Given the description of an element on the screen output the (x, y) to click on. 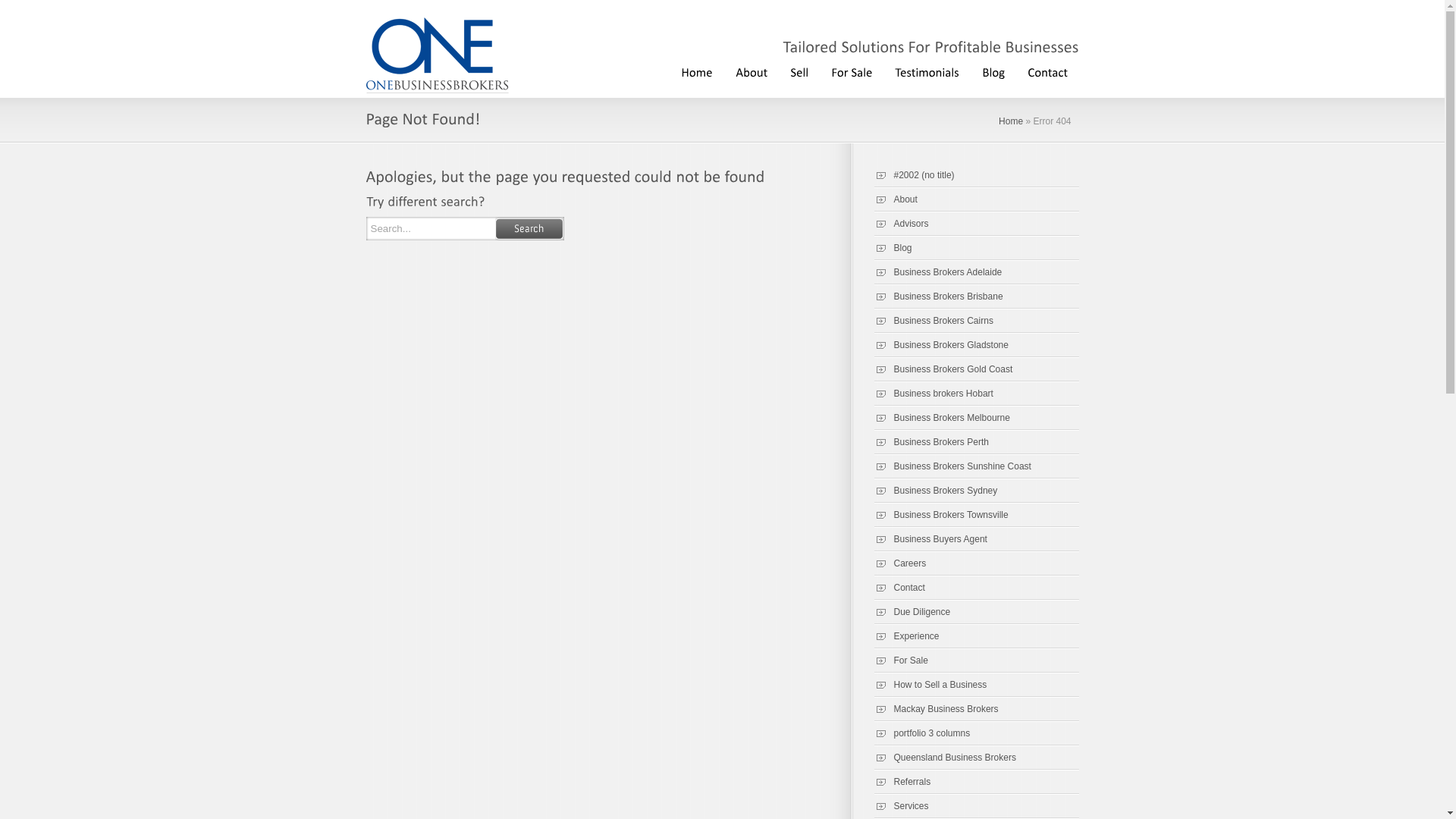
Business Brokers Brisbane Element type: text (937, 296)
About Element type: text (894, 199)
Blog Element type: text (993, 71)
Queensland Business Brokers Element type: text (944, 757)
Business Brokers Townsville Element type: text (940, 514)
Business Brokers Sunshine Coast Element type: text (951, 466)
For Sale Element type: text (900, 660)
Contact Element type: text (898, 587)
Mackay Business Brokers Element type: text (935, 708)
Business Brokers Sydney Element type: text (935, 490)
Testimonials Element type: text (925, 71)
#2002 (no title) Element type: text (913, 174)
About Element type: text (750, 71)
Business Brokers Cairns Element type: text (932, 320)
Due Diligence Element type: text (911, 611)
Home Element type: text (1010, 121)
Business brokers Hobart Element type: text (932, 393)
Services Element type: text (900, 805)
Home Element type: text (695, 71)
Contact Element type: text (1047, 71)
Business Brokers Adelaide Element type: text (937, 271)
Sell Element type: text (798, 71)
Business Buyers Agent Element type: text (929, 538)
portfolio 3 columns Element type: text (921, 733)
Careers Element type: text (899, 563)
Experience Element type: text (905, 635)
Referrals Element type: text (901, 781)
Blog Element type: text (892, 247)
Advisors Element type: text (900, 223)
Business Brokers Gold Coast Element type: text (942, 369)
Business Brokers Gladstone Element type: text (940, 344)
For Sale Element type: text (850, 71)
Business Brokers Perth Element type: text (930, 441)
Business Brokers Melbourne Element type: text (941, 417)
How to Sell a Business Element type: text (929, 684)
